Given the description of an element on the screen output the (x, y) to click on. 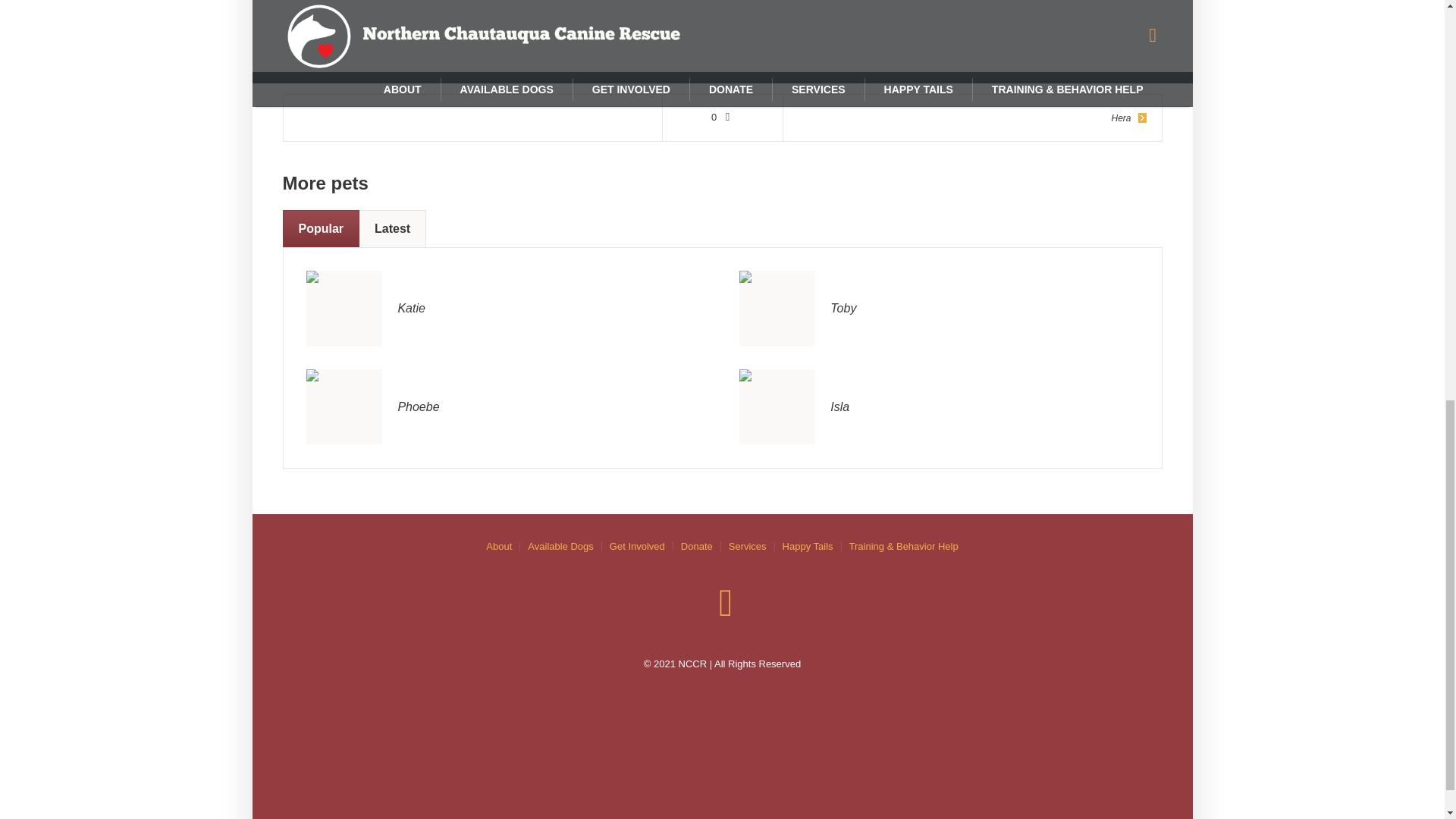
Isla (777, 405)
Toby (777, 308)
Katie (343, 308)
Phoebe (343, 407)
Toby (777, 307)
Katie (411, 308)
Toby (842, 308)
Phoebe (343, 405)
Phoebe (418, 406)
Katie (343, 307)
